Given the description of an element on the screen output the (x, y) to click on. 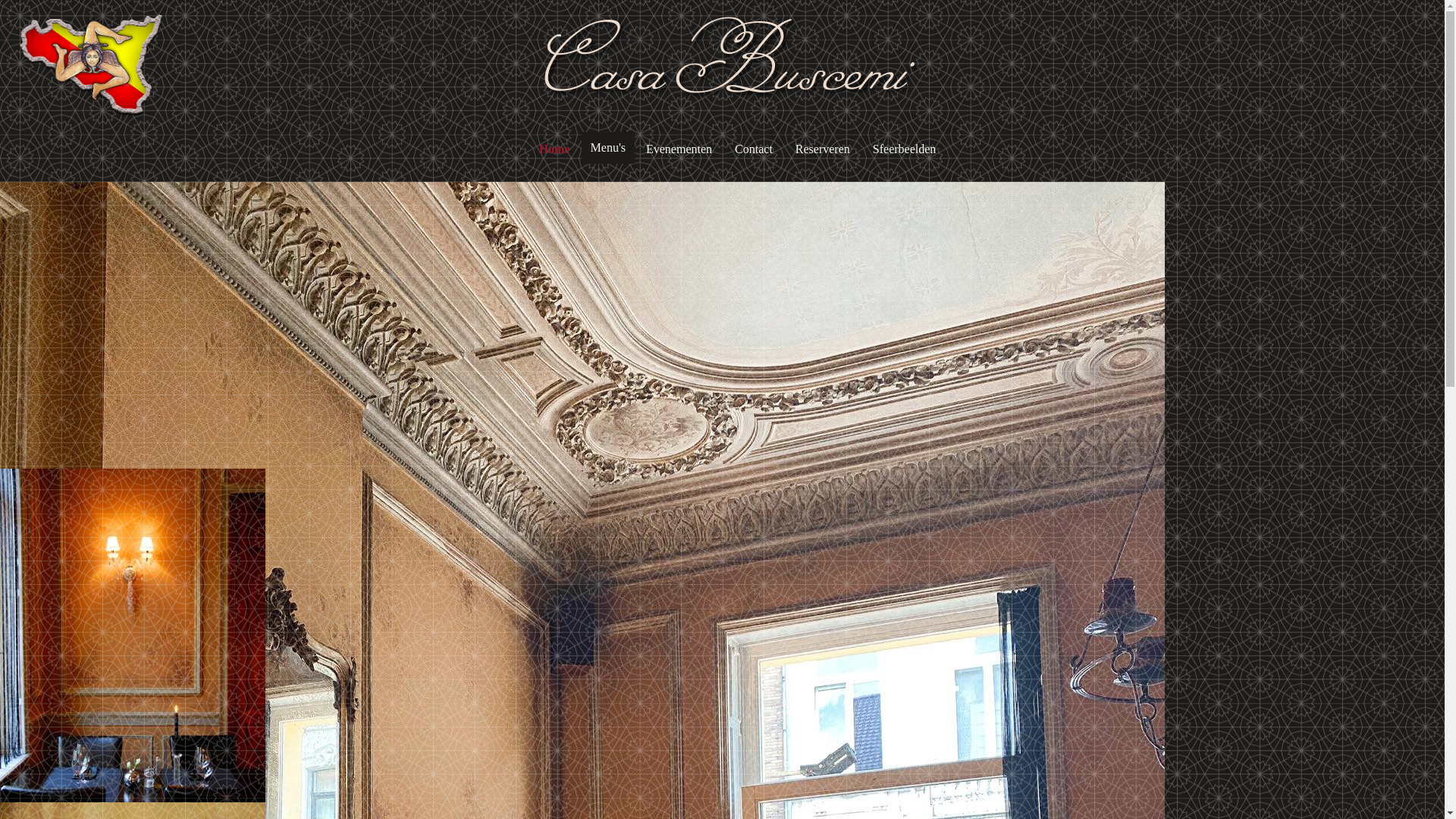
Evenementen Element type: text (678, 149)
Sfeerbeelden Element type: text (904, 149)
Casa Buscemi Element type: text (720, 65)
Reserveren Element type: text (822, 149)
Menu's Element type: text (607, 147)
Home Element type: text (554, 149)
Contact Element type: text (753, 149)
